Given the description of an element on the screen output the (x, y) to click on. 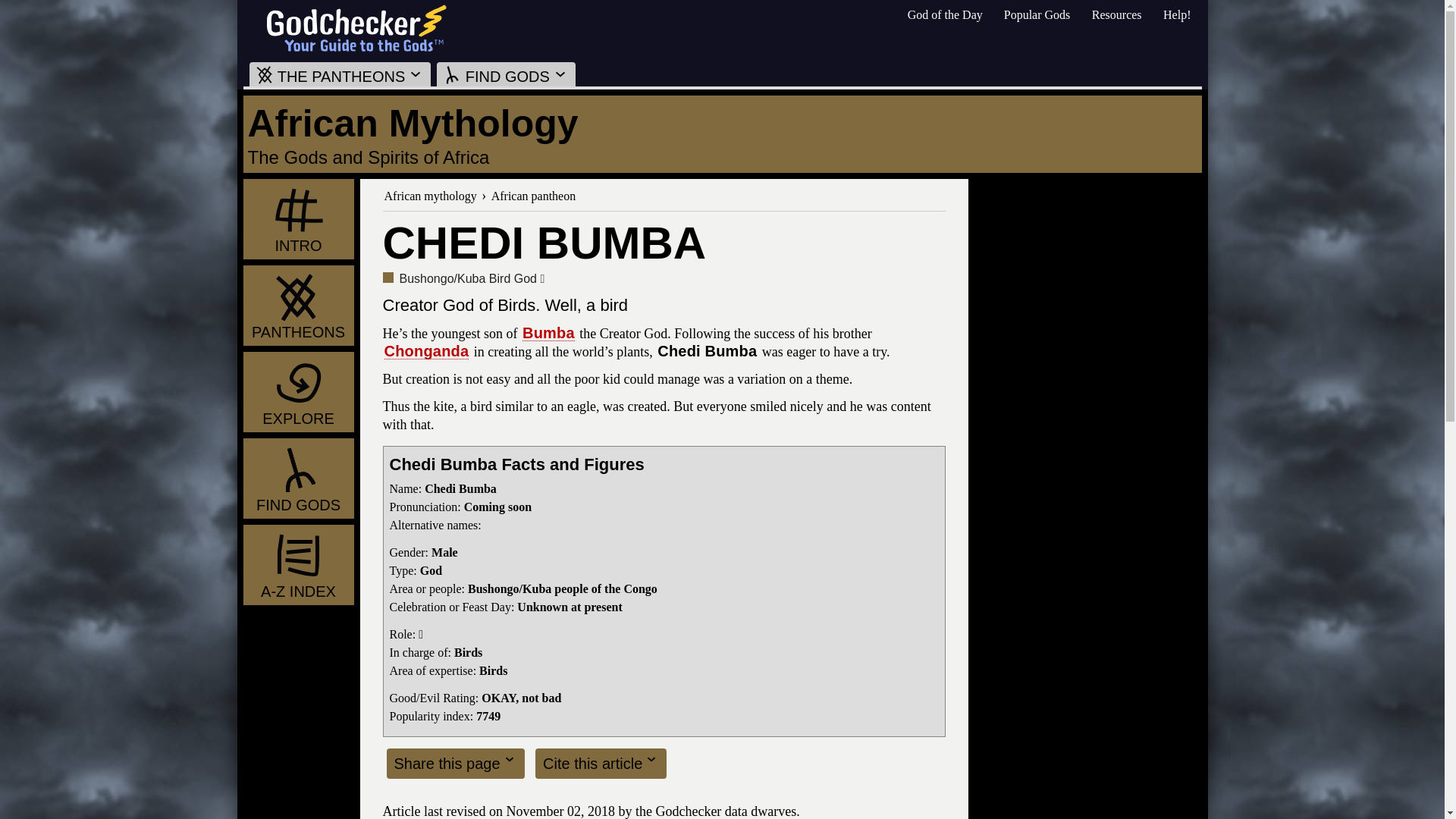
Resources (1116, 14)
THE PANTHEONS (339, 74)
FIND GODS (505, 74)
Help! (1176, 14)
Popular Gods (1037, 14)
God of the Day (944, 14)
